Given the description of an element on the screen output the (x, y) to click on. 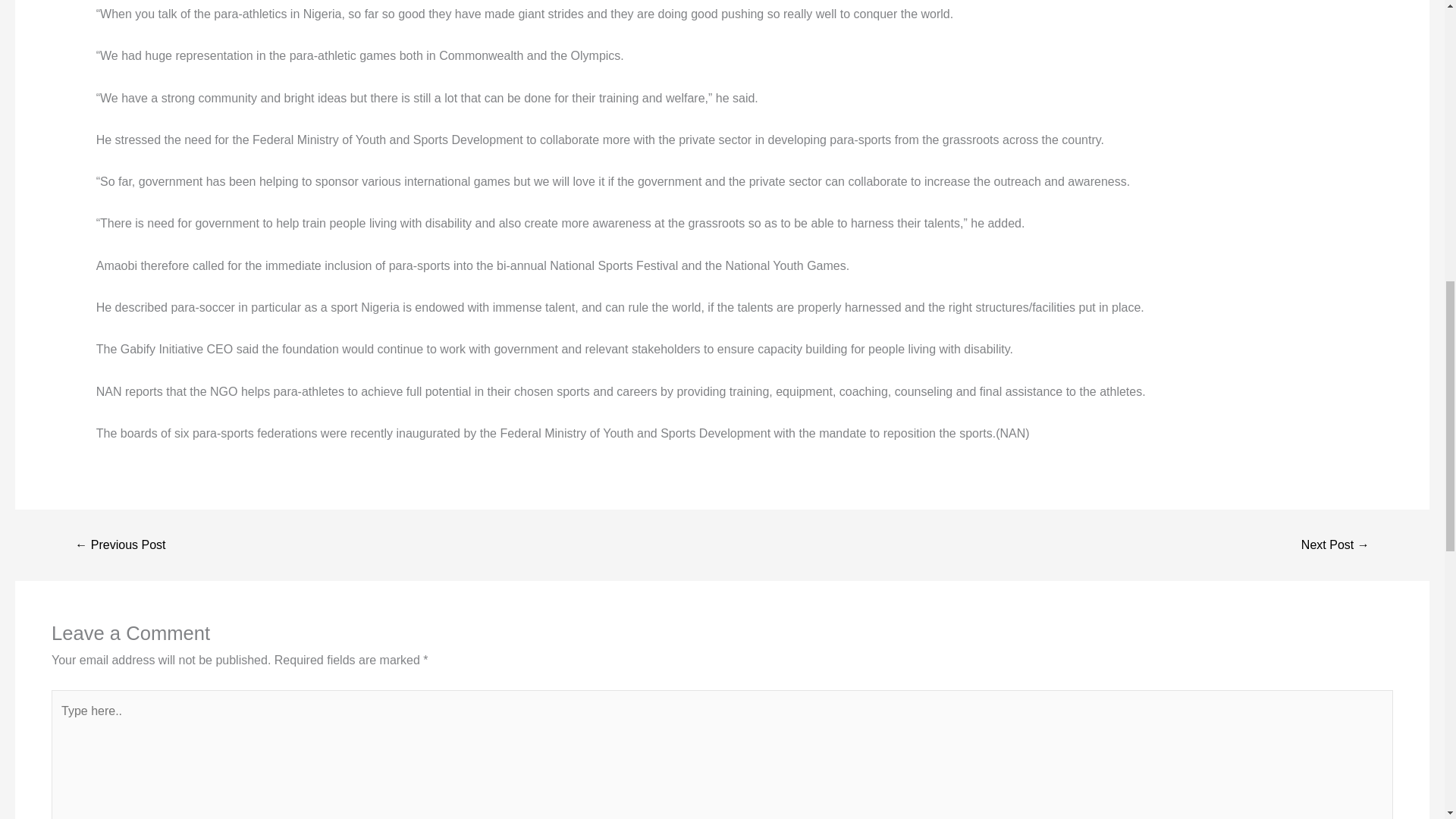
NGO trains women traditional leaders, market leaders on SGBV (119, 544)
Fidelity Healthcare Seeks Partnership With Government (1334, 544)
